Given the description of an element on the screen output the (x, y) to click on. 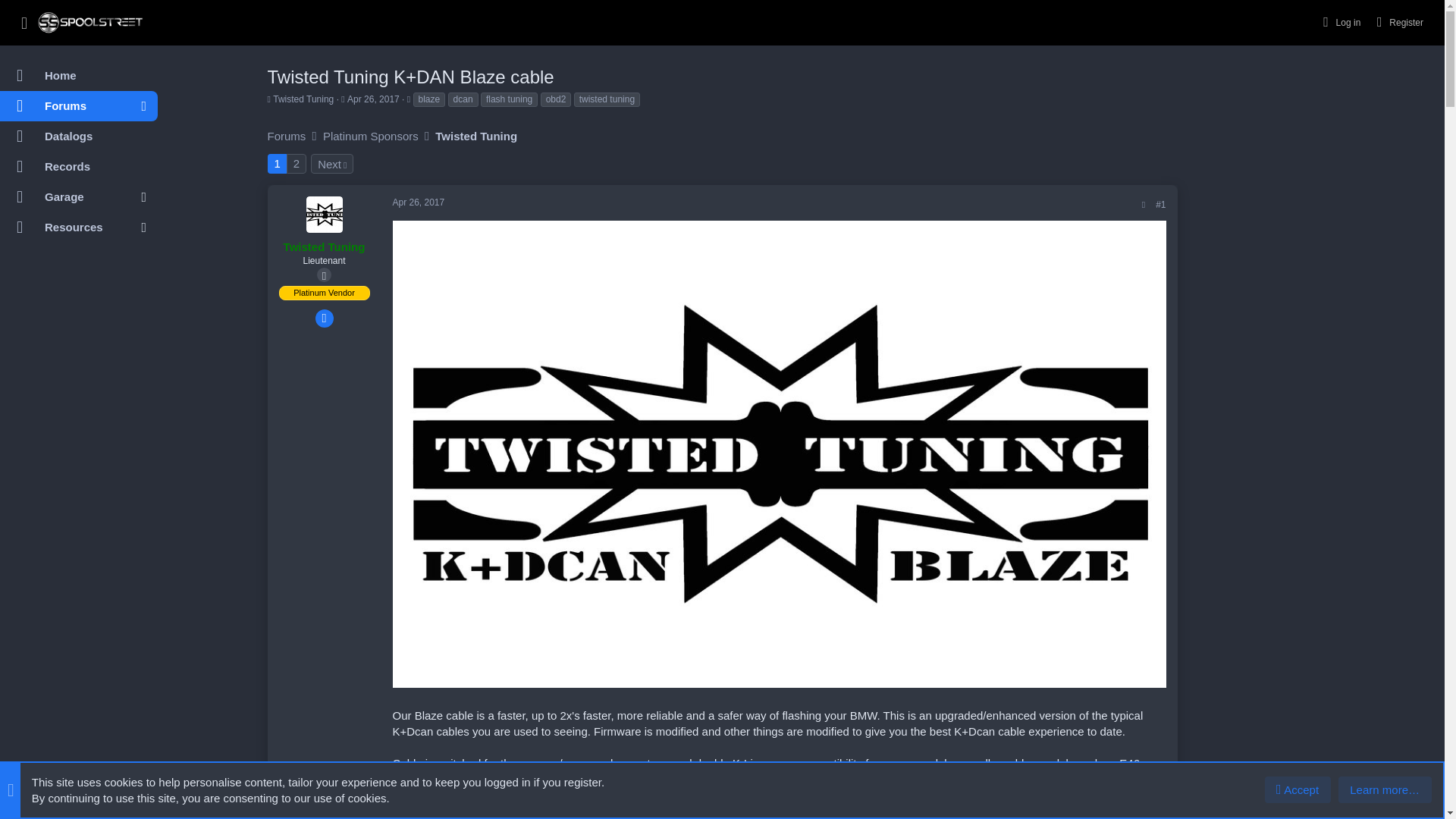
blaze (428, 99)
Twisted Tuning Blaze Cable 2.jpg (779, 811)
Platinum Sponsors (371, 135)
Register (1398, 21)
Resources (91, 155)
Datalogs (68, 227)
Twisted Tuning (77, 136)
Home (303, 99)
1 (77, 75)
Apr 26, 2017 (276, 163)
Next (372, 99)
Twisted Tuning Blaze Cable 2.jpg (332, 163)
obd2 (779, 811)
Log in (556, 99)
